Given the description of an element on the screen output the (x, y) to click on. 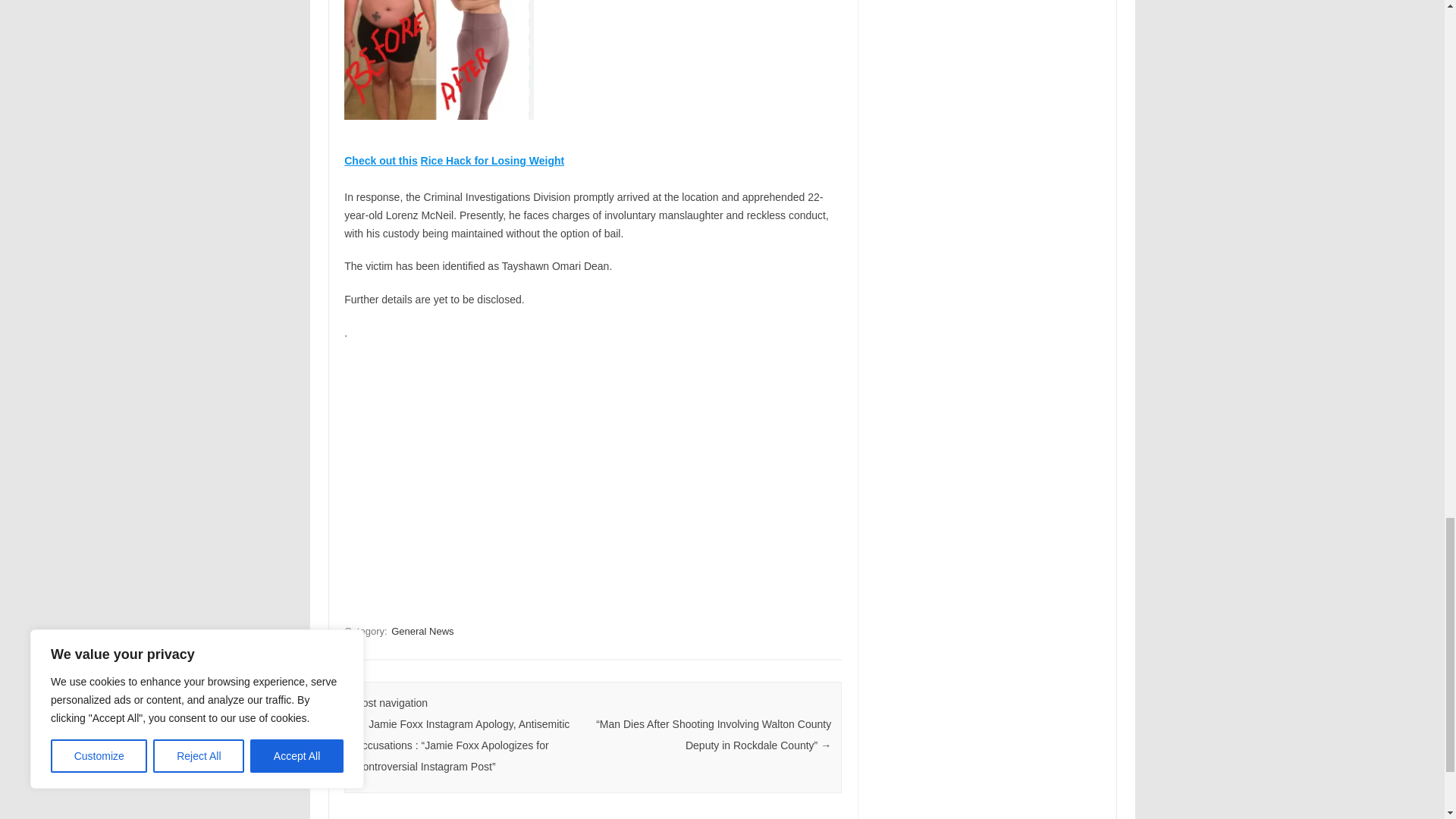
Check ou (367, 160)
YouTube video player (555, 477)
t this (403, 160)
